Given the description of an element on the screen output the (x, y) to click on. 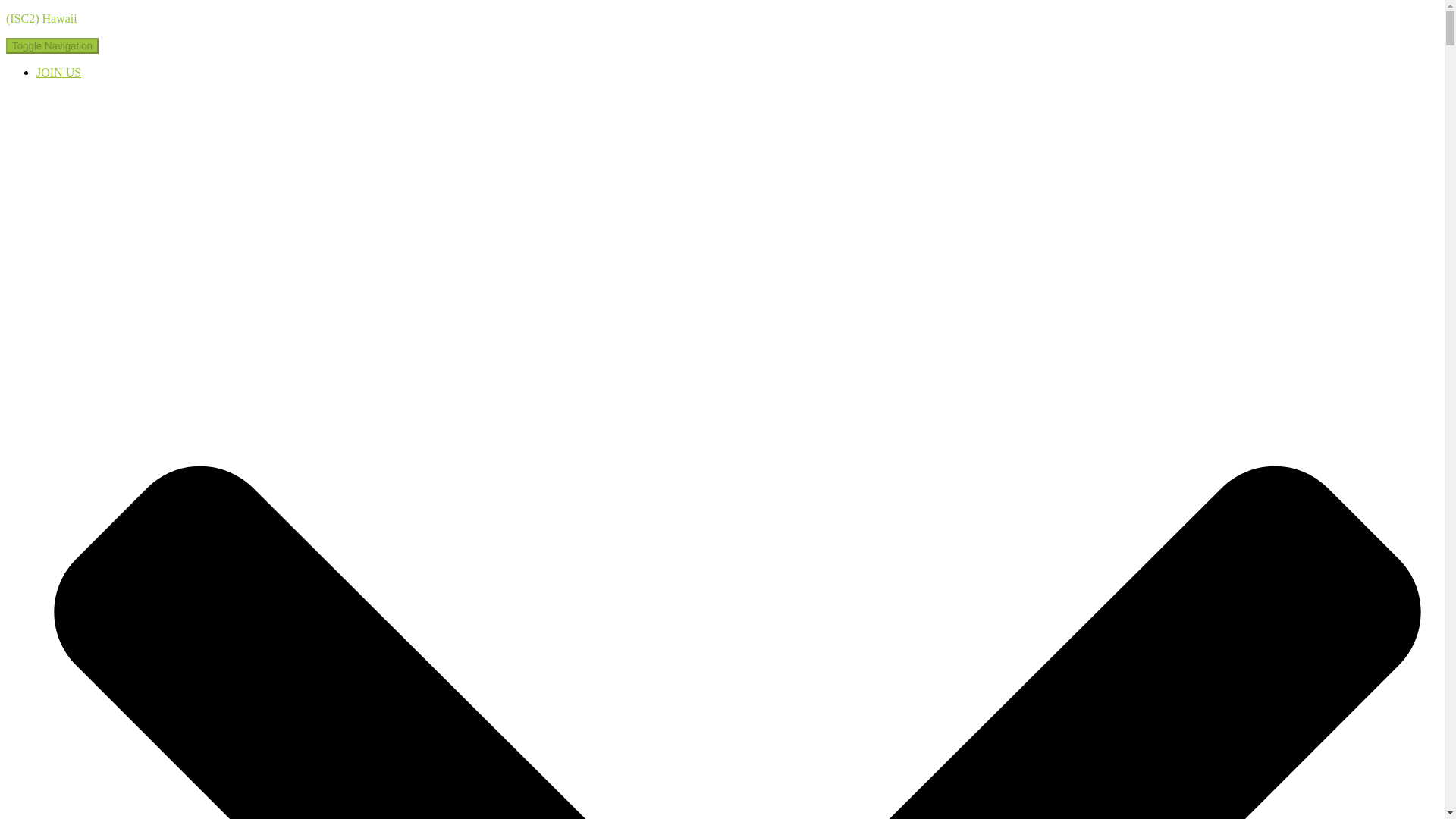
Toggle Navigation (52, 45)
